Given the description of an element on the screen output the (x, y) to click on. 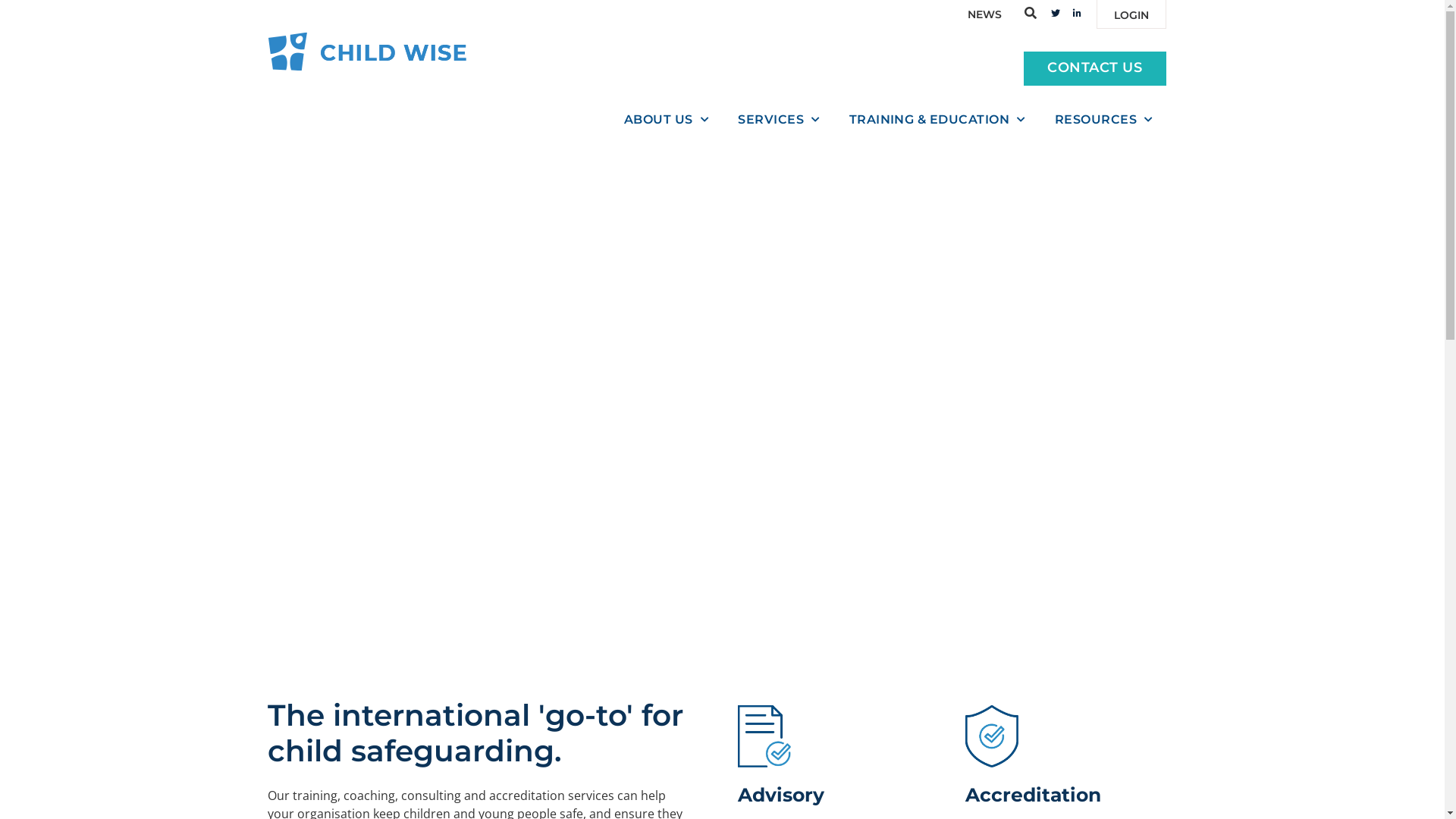
TRAINING & EDUCATION Element type: text (937, 119)
CONTACT US Element type: text (1094, 68)
NEWS Element type: text (984, 14)
ABOUT US Element type: text (666, 119)
RESOURCES Element type: text (1103, 119)
SERVICES Element type: text (778, 119)
LOGIN Element type: text (1131, 14)
